Given the description of an element on the screen output the (x, y) to click on. 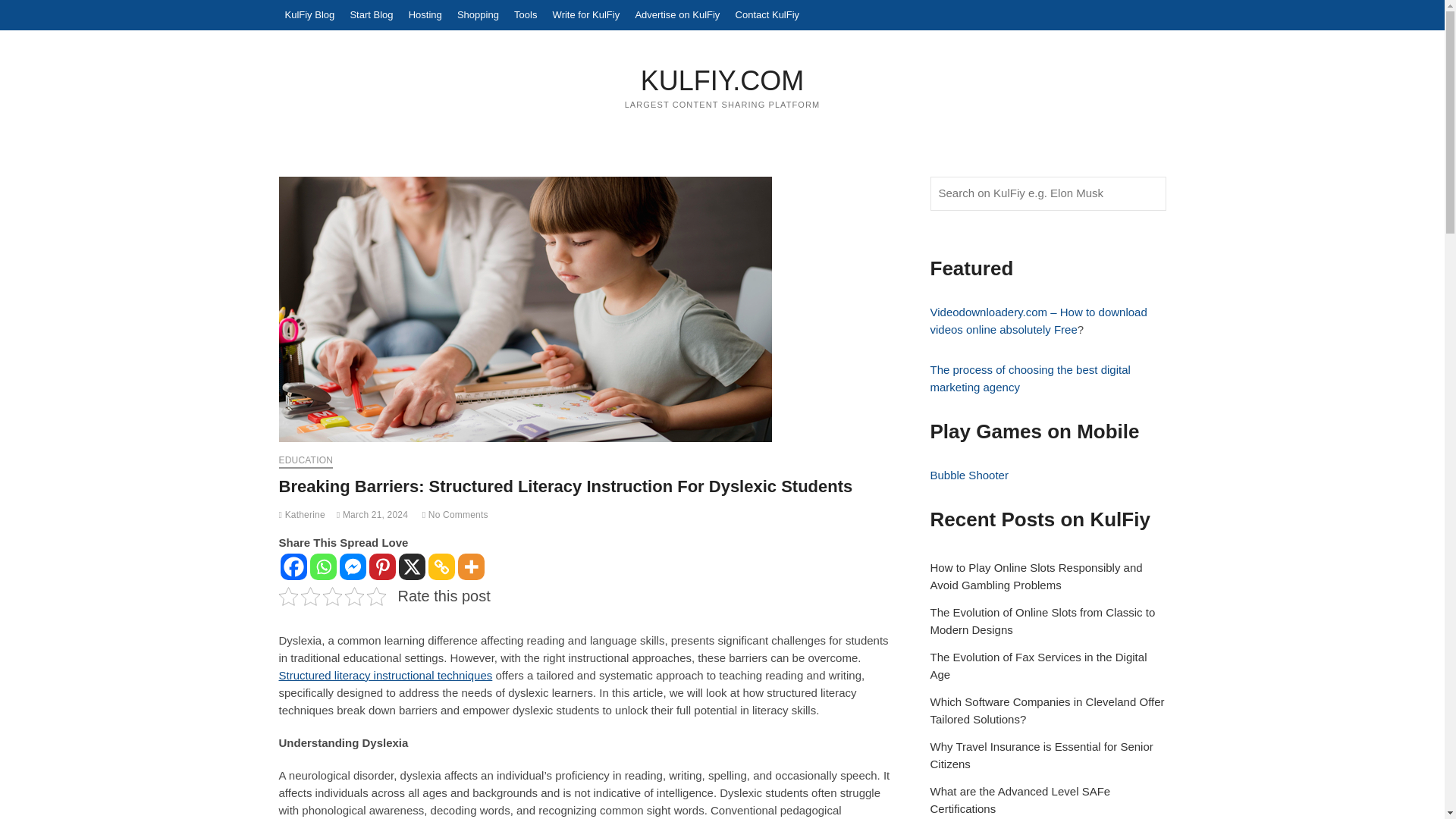
More (471, 566)
Pinterest (381, 566)
Facebook Messenger (352, 566)
KulFiy Blog (309, 15)
Shopping (478, 15)
Hosting (425, 15)
Write for KulFiy (586, 15)
KULFIY.COM (722, 80)
X (411, 566)
Advertise on KulFiy (676, 15)
March 21, 2024 (371, 514)
KULFIY.COM (722, 80)
Facebook (294, 566)
Whatsapp (322, 566)
